Given the description of an element on the screen output the (x, y) to click on. 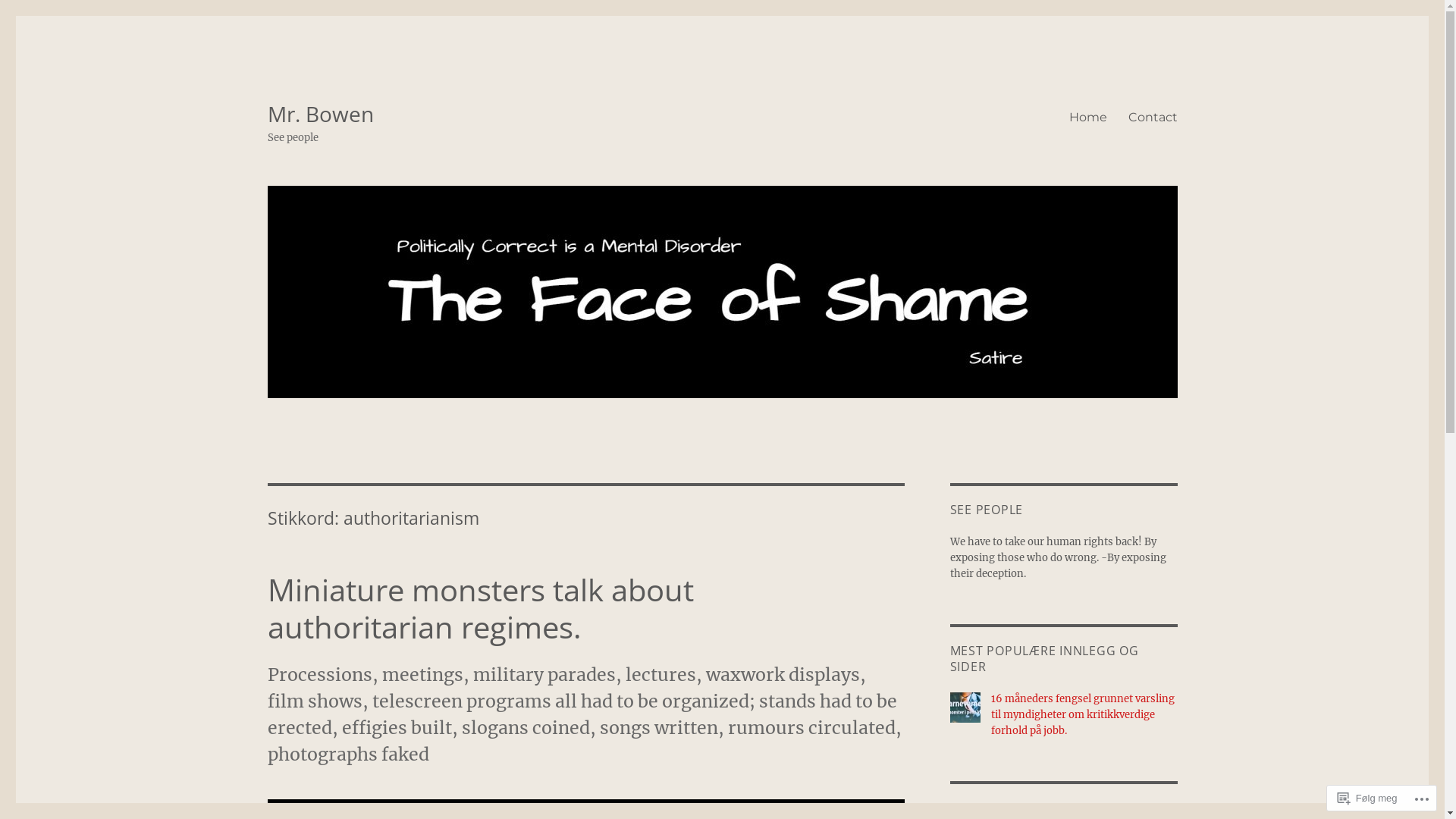
Contact Element type: text (1152, 116)
Home Element type: text (1087, 116)
Mr. Bowen Element type: text (319, 113)
Miniature monsters talk about authoritarian regimes. Element type: text (479, 607)
